Given the description of an element on the screen output the (x, y) to click on. 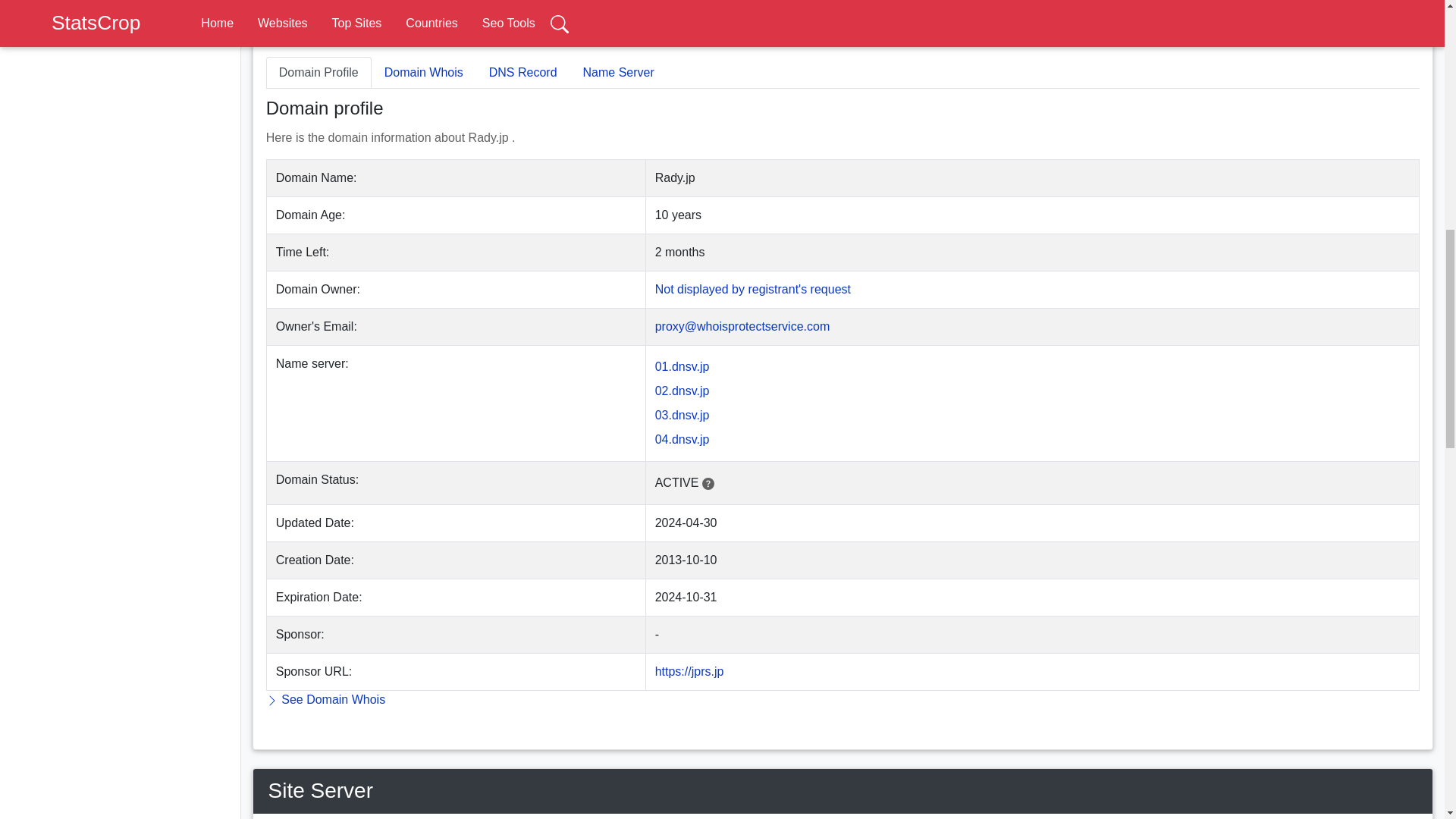
Not displayed by registrant's request (752, 288)
Domain Profile (318, 72)
02.dnsv.jp (682, 390)
01.dnsv.jp (682, 366)
03.dnsv.jp (682, 414)
Name Server (618, 72)
DNS Record (523, 72)
See Domain Whois (325, 698)
04.dnsv.jp (682, 439)
Domain Whois (423, 72)
